Given the description of an element on the screen output the (x, y) to click on. 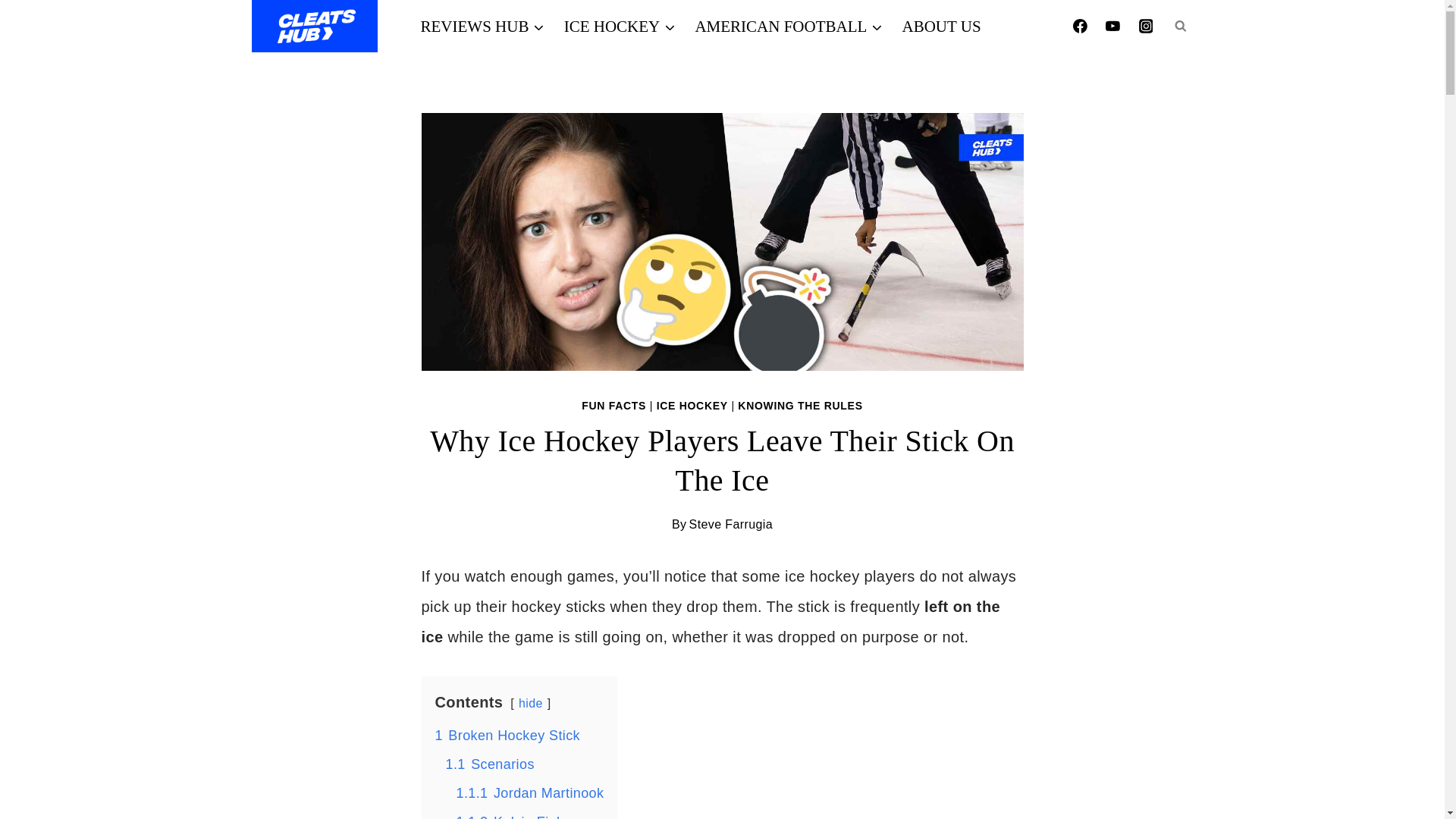
FUN FACTS (613, 405)
ICE HOCKEY (692, 405)
ABOUT US (941, 26)
REVIEWS HUB (482, 26)
AMERICAN FOOTBALL (788, 26)
ICE HOCKEY (619, 26)
